Given the description of an element on the screen output the (x, y) to click on. 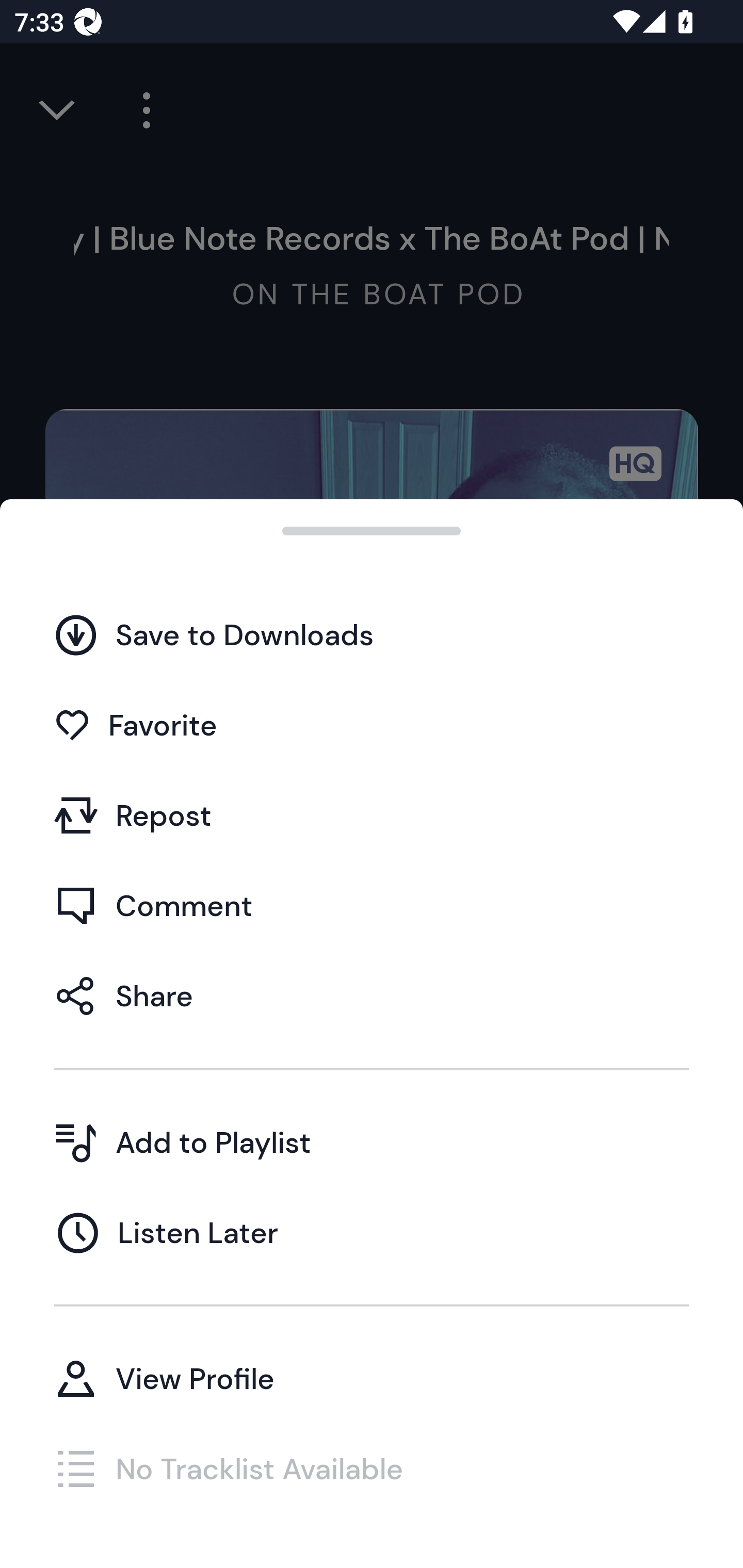
Close full player (58, 110)
Player more options button (139, 110)
Save to Downloads (371, 634)
Favorite (371, 724)
Repost (371, 814)
Comment (371, 905)
Share (371, 995)
Add to Playlist (371, 1141)
Listen Later (371, 1231)
View Profile (371, 1377)
No Tracklist Available (371, 1468)
